Given the description of an element on the screen output the (x, y) to click on. 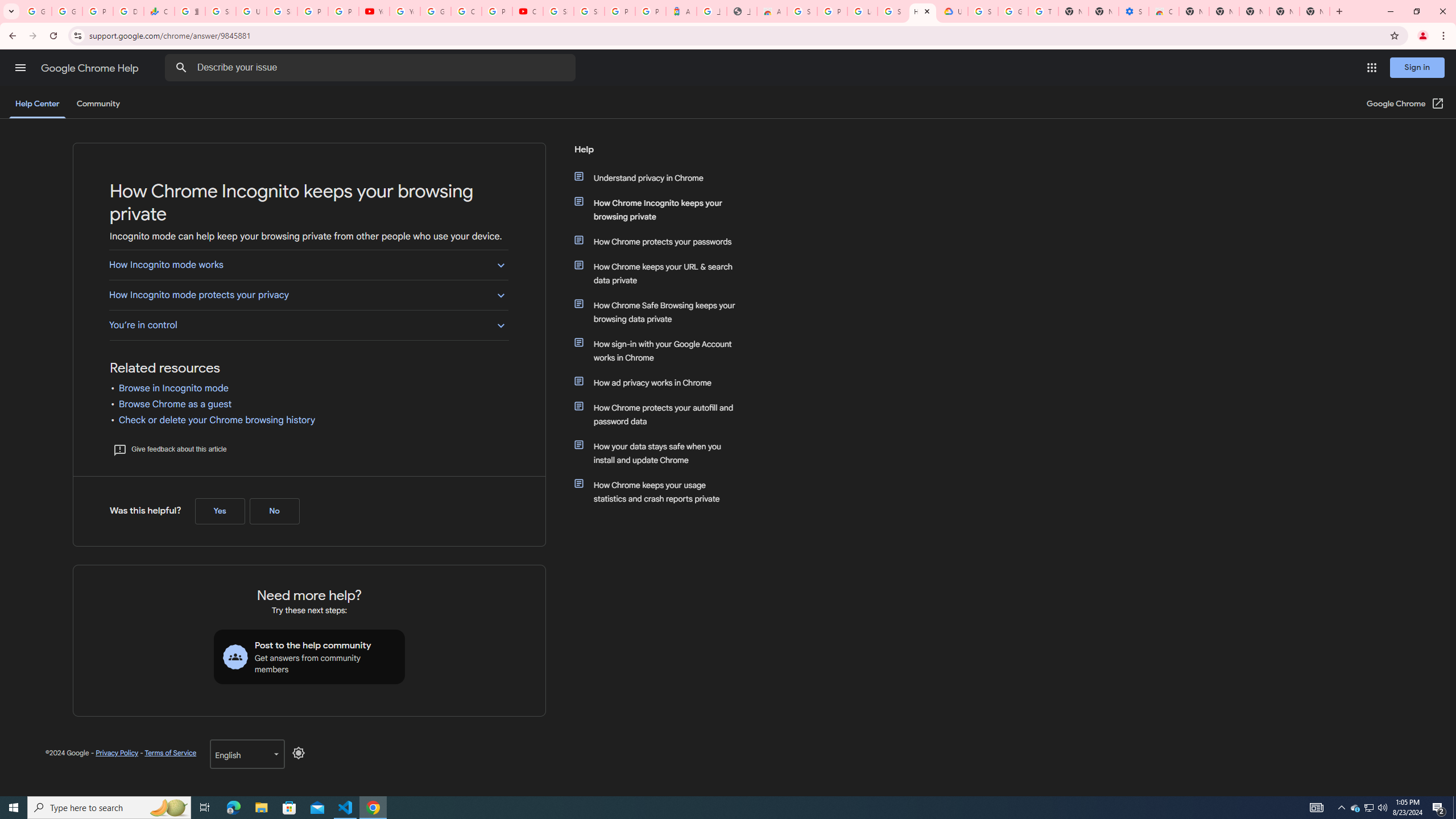
How sign-in with your Google Account works in Chrome (661, 350)
How Chrome keeps your URL & search data private (661, 273)
Create your Google Account (465, 11)
Yes (Was this helpful?) (219, 510)
Search Help Center (181, 67)
Sign in - Google Accounts (589, 11)
YouTube (404, 11)
How Chrome Incognito keeps your browsing private (661, 209)
Atour Hotel - Google hotels (681, 11)
